Given the description of an element on the screen output the (x, y) to click on. 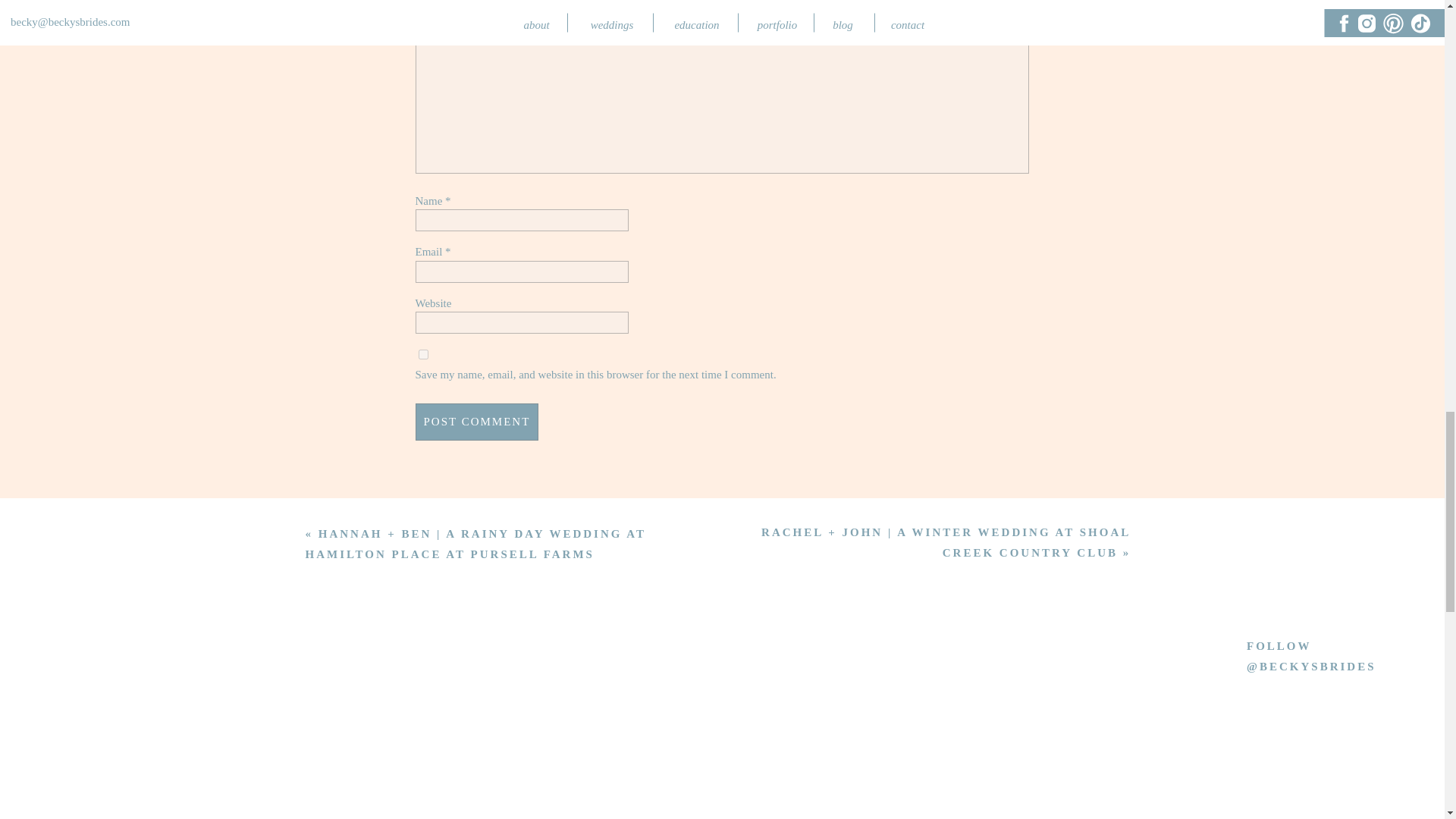
Post Comment (476, 421)
Post Comment (476, 421)
yes (423, 354)
